Given the description of an element on the screen output the (x, y) to click on. 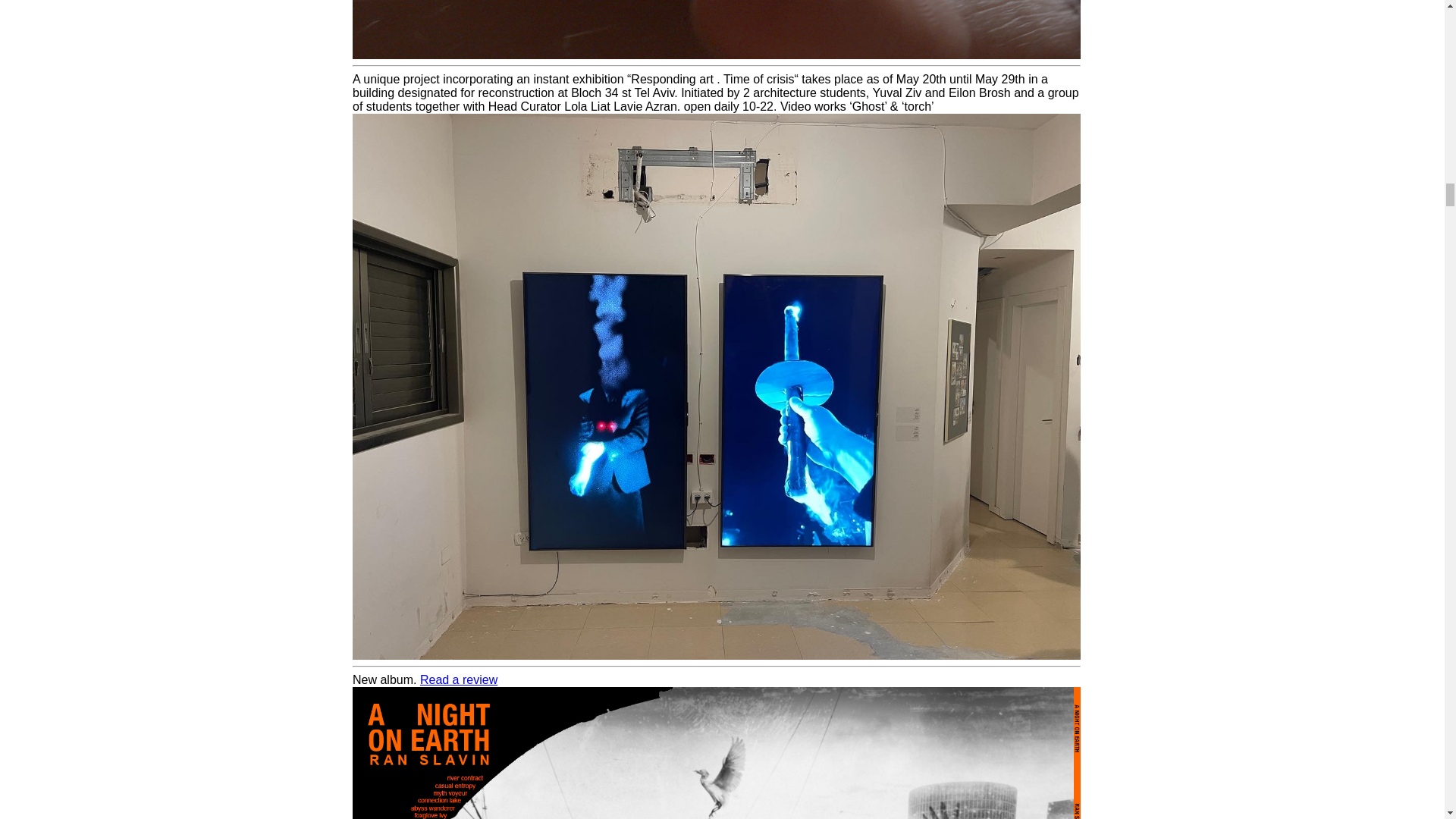
Read a review (458, 679)
